Given the description of an element on the screen output the (x, y) to click on. 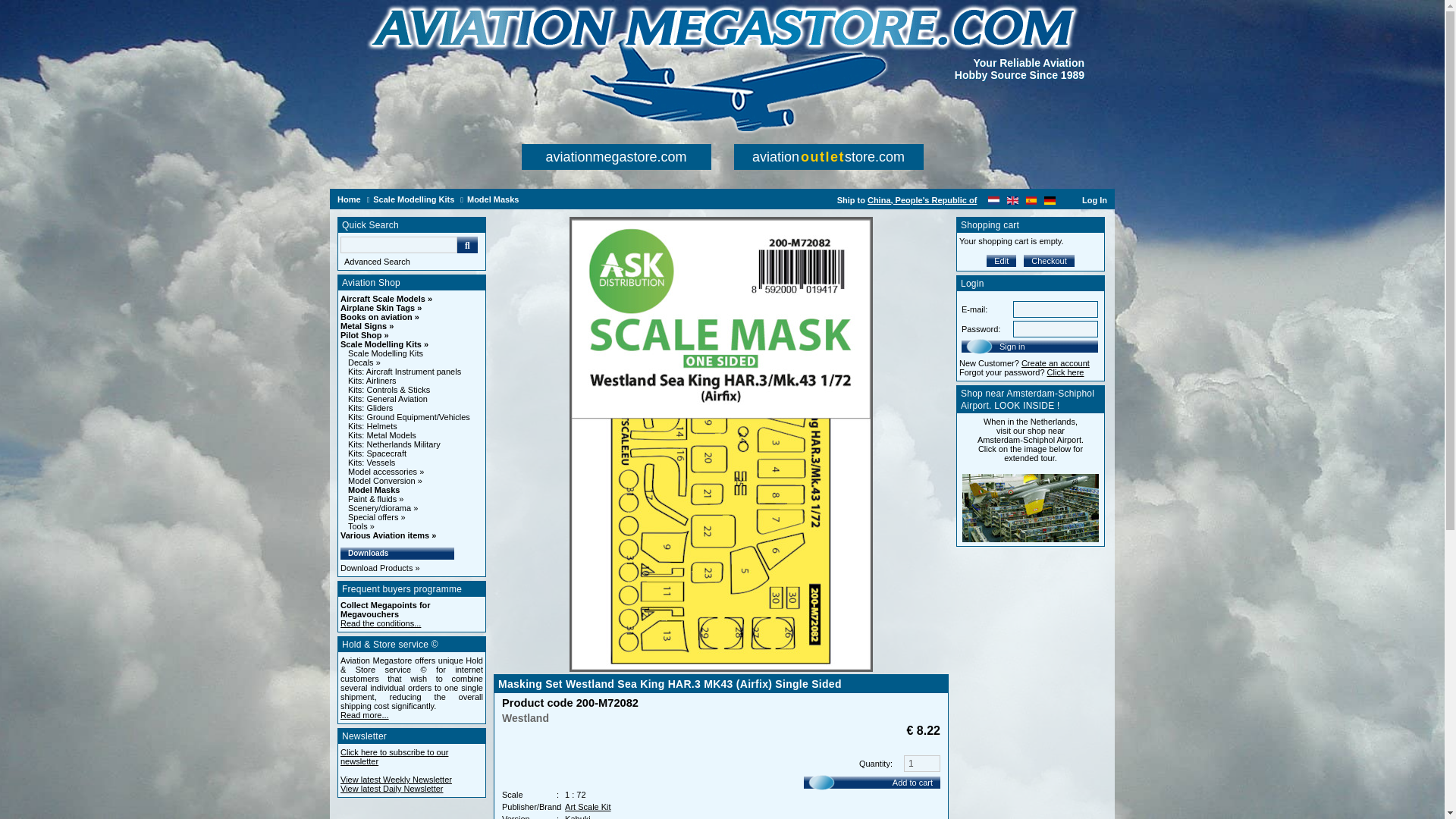
Pilot Shop (364, 334)
Nederlands (993, 199)
Kits: Metal Models (381, 434)
Airplane Skin Tags (381, 307)
Kits: Helmets (372, 425)
Kits: Aircraft Instrument panels (404, 370)
Scale Modelling Kits (385, 352)
Various Aviation items (387, 534)
1 (922, 763)
Advanced Search (413, 261)
Model Conversion (384, 480)
English (1012, 199)
Deutsch (1049, 199)
Metal Signs (366, 325)
Decals (363, 361)
